Given the description of an element on the screen output the (x, y) to click on. 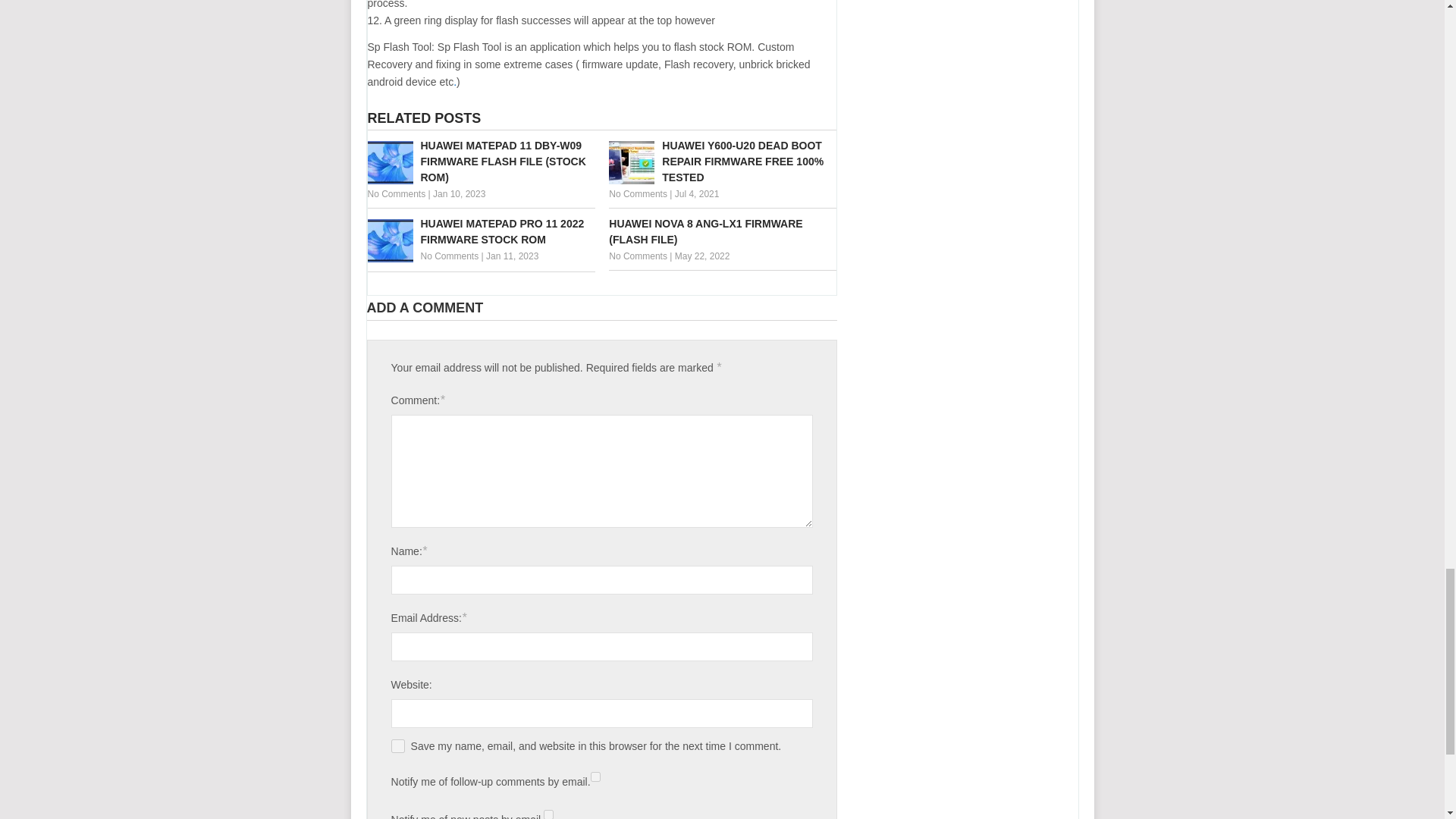
. (454, 81)
No Comments (449, 255)
yes (397, 745)
HUAWEI MATEPAD PRO 11 2022 Firmware Stock ROM (480, 232)
HUAWEI MATEPAD PRO 11 2022 FIRMWARE STOCK ROM (480, 232)
subscribe (595, 777)
subscribe (548, 814)
No Comments (637, 194)
No Comments (395, 194)
No Comments (637, 255)
